Given the description of an element on the screen output the (x, y) to click on. 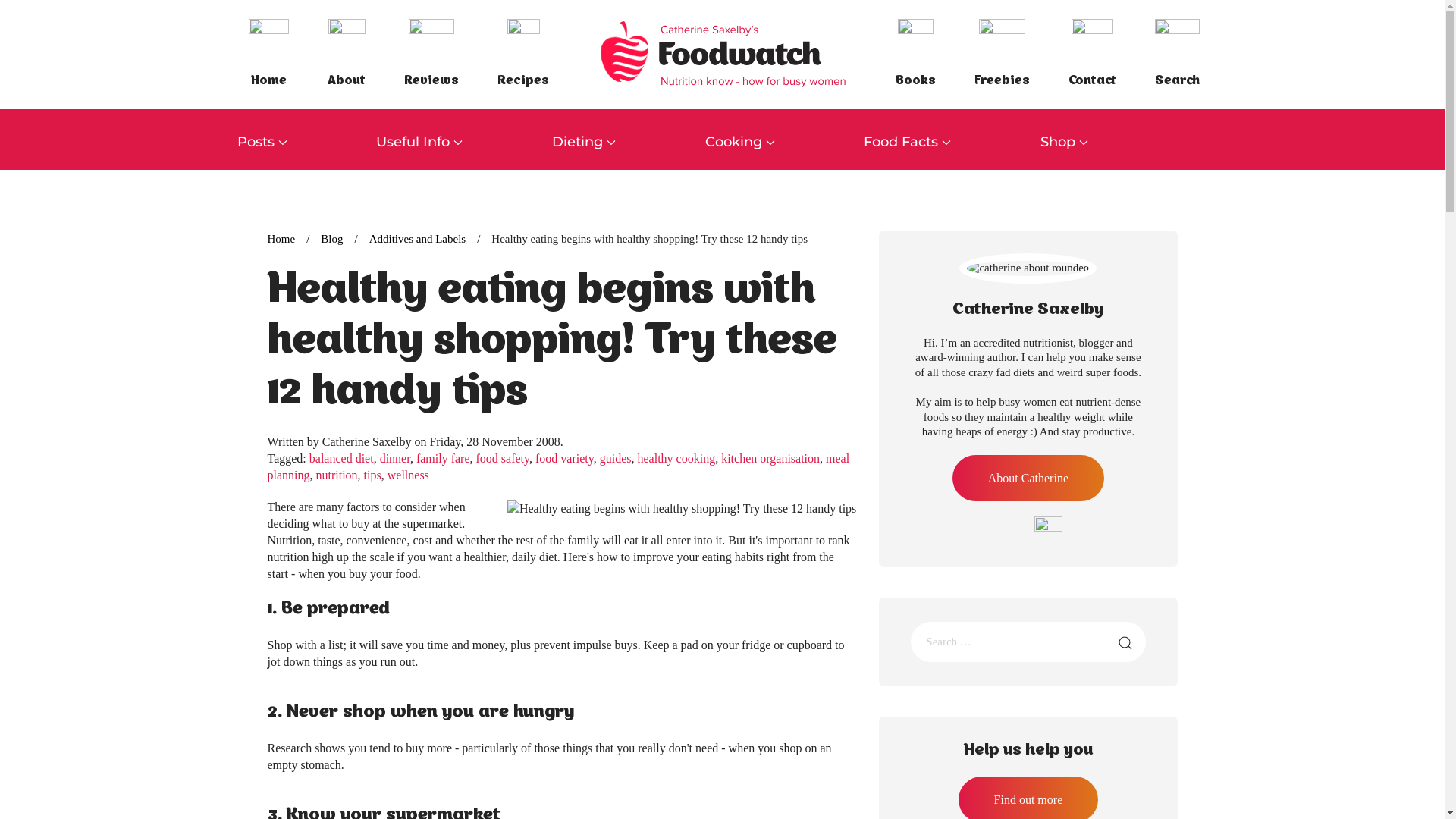
Blog Element type: text (331, 238)
Shop Element type: text (1108, 142)
Reviews Element type: text (431, 54)
Contact Element type: text (1092, 54)
Additives and Labels Element type: text (417, 238)
kitchen organisation Element type: text (770, 457)
Home Element type: text (268, 54)
wellness Element type: text (408, 474)
tips Element type: text (372, 474)
Dieting Element type: text (628, 142)
family fare Element type: text (443, 457)
dinner Element type: text (394, 457)
Home Element type: text (280, 238)
Useful Info Element type: text (464, 142)
RSS Element type: hover (1048, 529)
Print Element type: hover (850, 283)
About Catherine Element type: text (1028, 478)
nutrition Element type: text (336, 474)
Freebies Element type: text (1001, 54)
Books Element type: text (915, 54)
healthy cooking Element type: text (676, 457)
Posts Element type: text (306, 142)
Food Facts Element type: text (951, 142)
About Element type: text (346, 54)
balanced diet Element type: text (341, 457)
meal planning Element type: text (557, 466)
guides Element type: text (615, 457)
Recipes Element type: text (522, 54)
food safety Element type: text (503, 457)
food variety Element type: text (564, 457)
Cooking Element type: text (784, 142)
Search Element type: text (1176, 54)
